Given the description of an element on the screen output the (x, y) to click on. 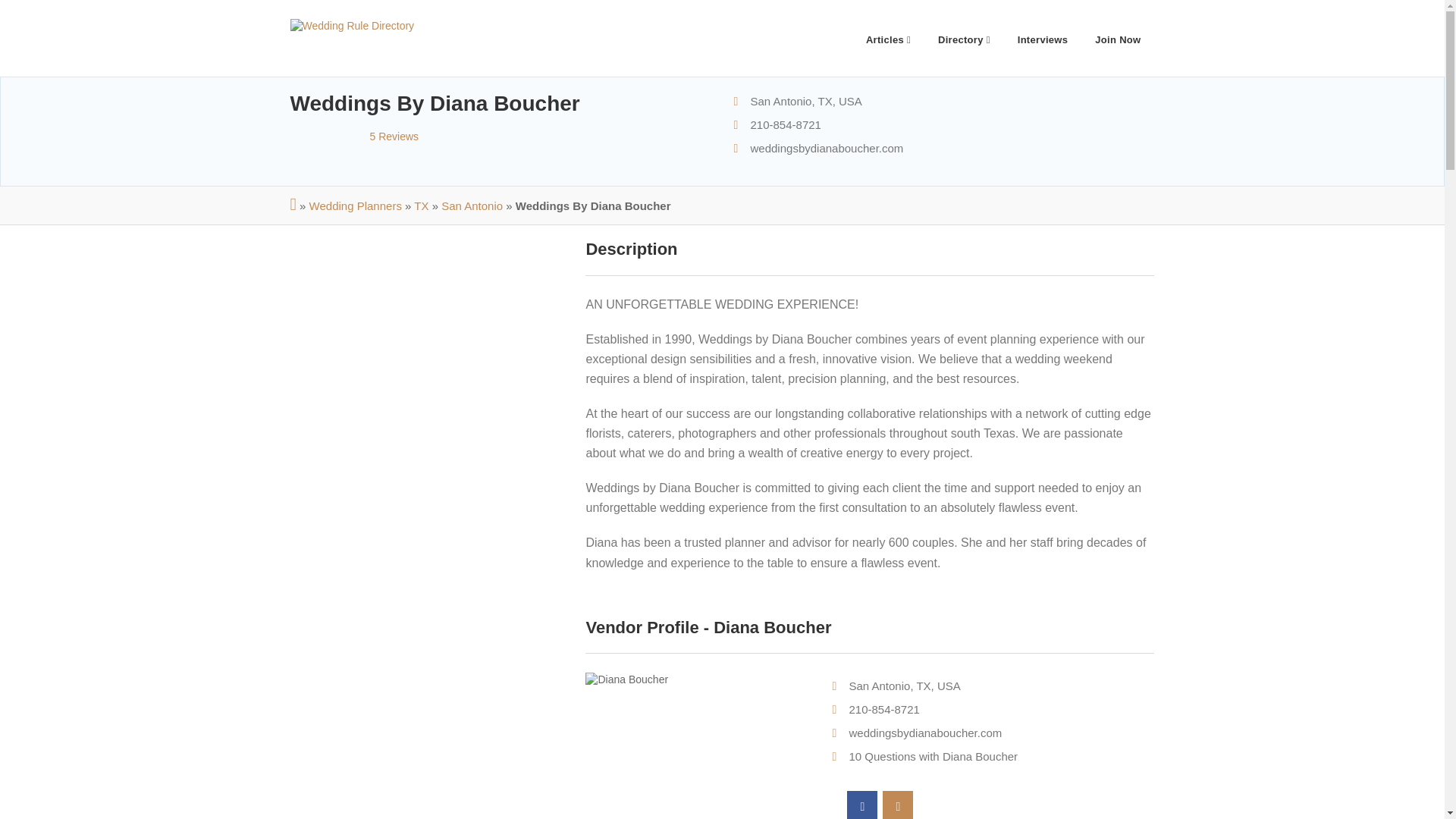
Join Now (1117, 38)
5.0 (329, 134)
Wedding Planners (354, 205)
San Antonio (471, 205)
weddingsbydianaboucher.com (827, 147)
Interviews (1042, 38)
5 Reviews (354, 136)
Diana Boucher (697, 679)
weddingsbydianaboucher.com (924, 732)
Articles (887, 38)
